Given the description of an element on the screen output the (x, y) to click on. 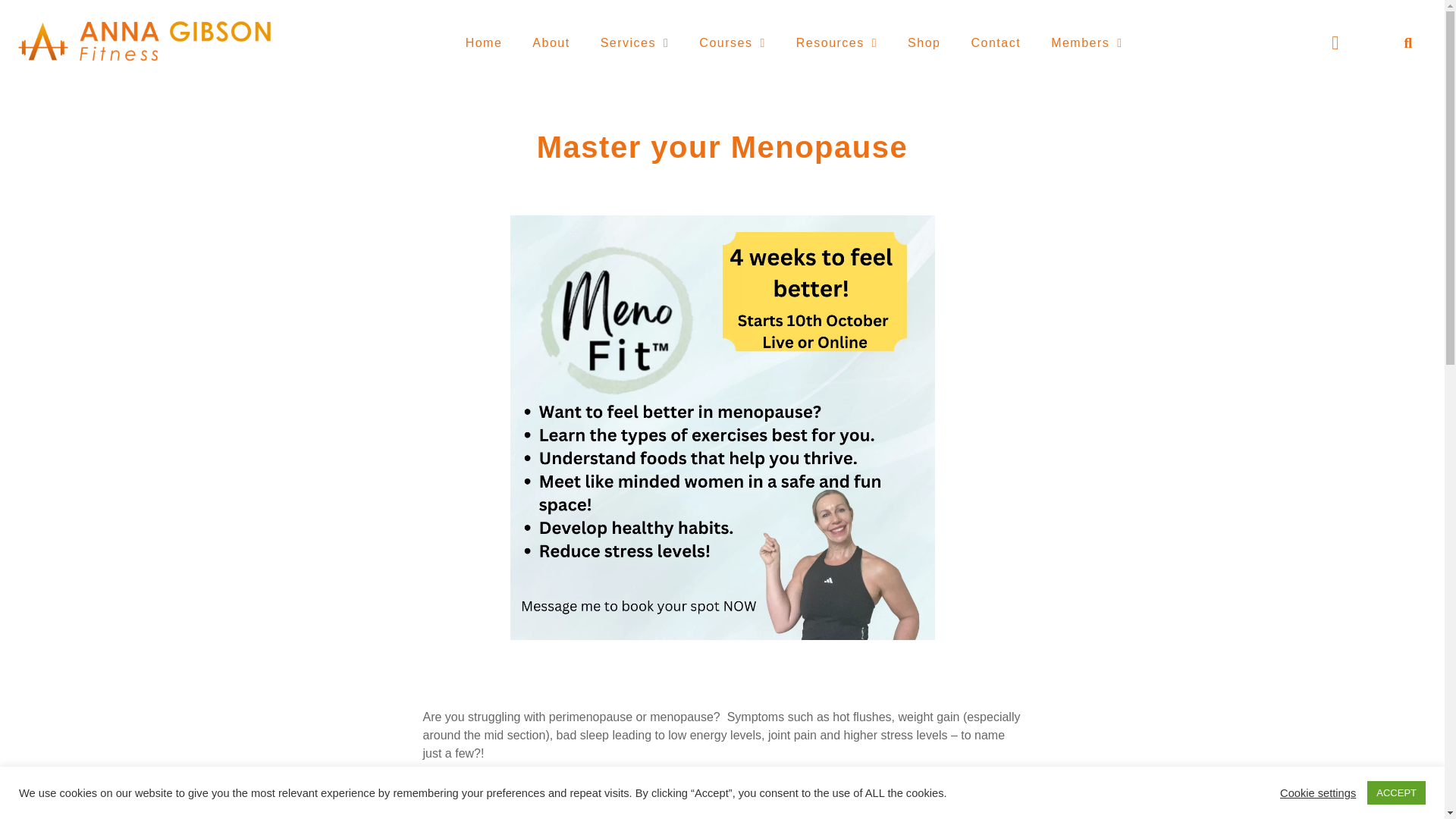
About (550, 42)
3Anna Logo New (144, 43)
Courses (732, 42)
Resources (836, 42)
Shop (923, 42)
Services (634, 42)
Contact (995, 42)
Home (483, 42)
Members (1086, 42)
